Given the description of an element on the screen output the (x, y) to click on. 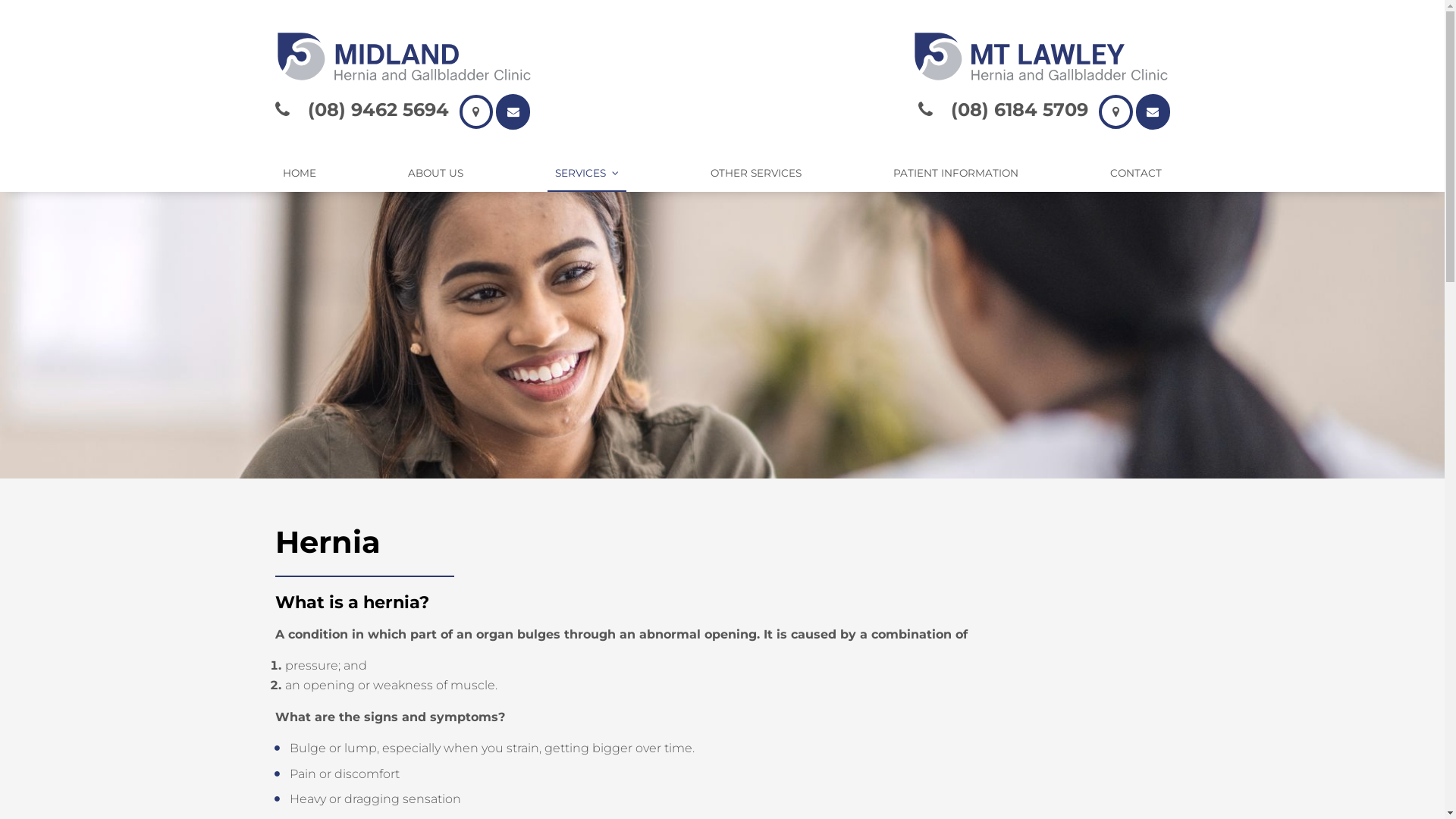
ABOUT US Element type: text (435, 174)
OTHER SERVICES Element type: text (755, 174)
SERVICES Element type: text (586, 174)
CONTACT Element type: text (1135, 174)
HOME Element type: text (298, 174)
PATIENT INFORMATION Element type: text (955, 174)
